Given the description of an element on the screen output the (x, y) to click on. 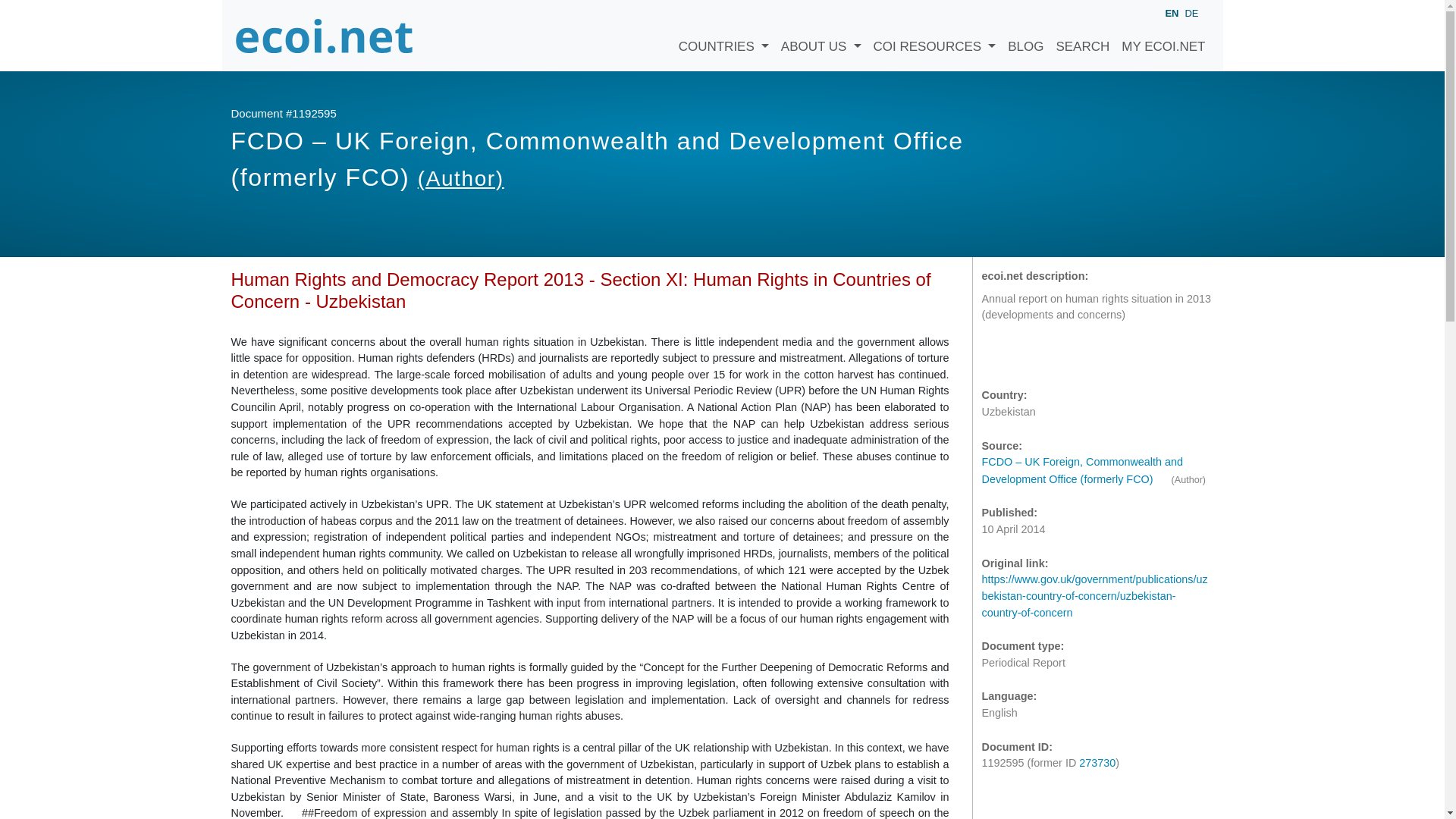
English (1170, 13)
German (1190, 12)
Go to ecoi.net homepage (323, 35)
COUNTRIES (723, 35)
MY ECOI.NET (1163, 35)
BLOG (1025, 35)
COI RESOURCES (935, 35)
SEARCH (1082, 35)
Permalink (1056, 357)
Cite as (996, 357)
